Given the description of an element on the screen output the (x, y) to click on. 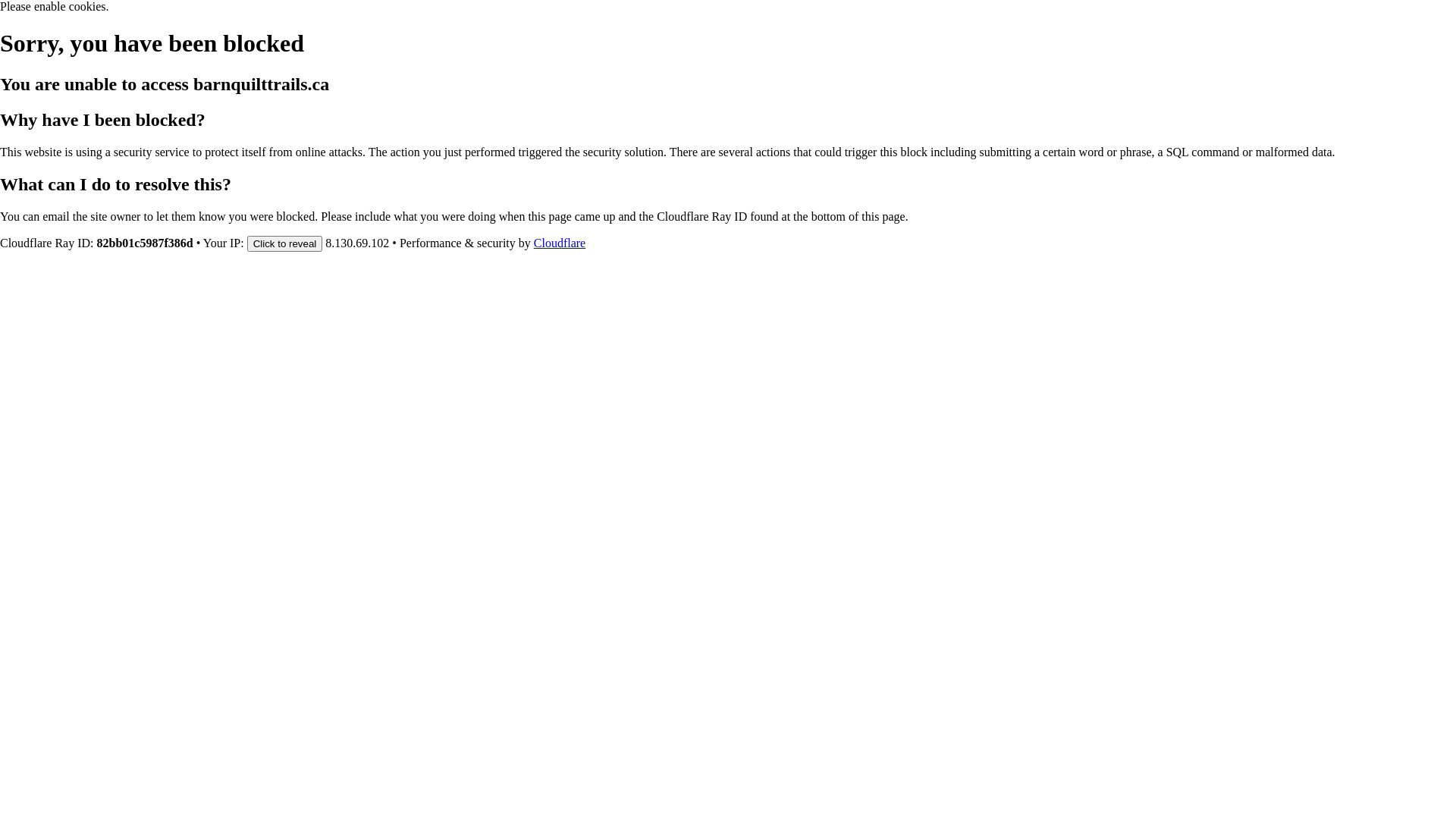
Cloudflare Element type: text (559, 242)
Click to reveal Element type: text (285, 243)
